Given the description of an element on the screen output the (x, y) to click on. 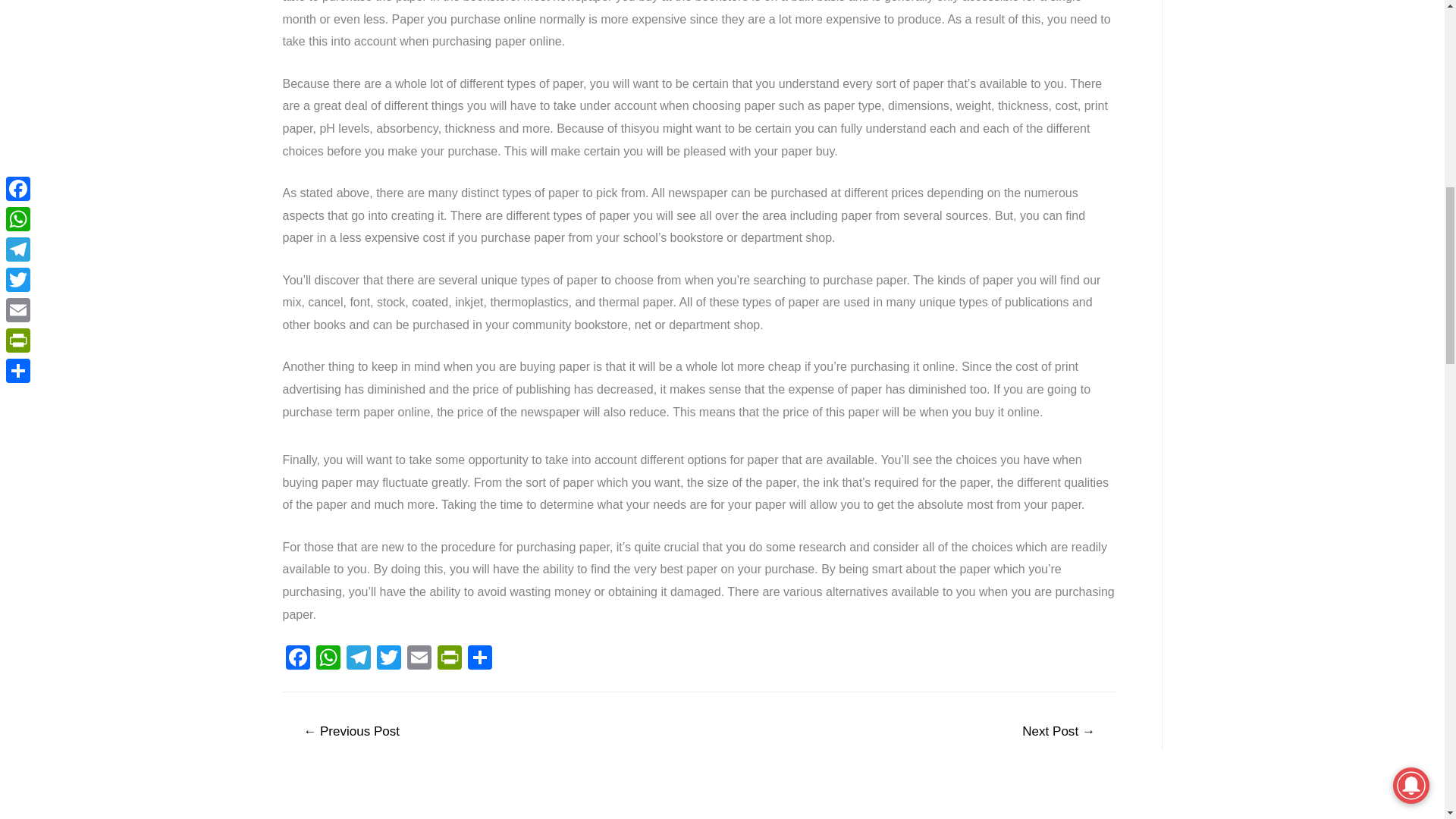
Facebook (297, 659)
WhatsApp (327, 659)
PrintFriendly (448, 659)
Facebook (297, 659)
WhatsApp (327, 659)
PrintFriendly (448, 659)
Telegram (357, 659)
Telegram (357, 659)
Twitter (387, 659)
Twitter (387, 659)
Email (418, 659)
Email (418, 659)
